Given the description of an element on the screen output the (x, y) to click on. 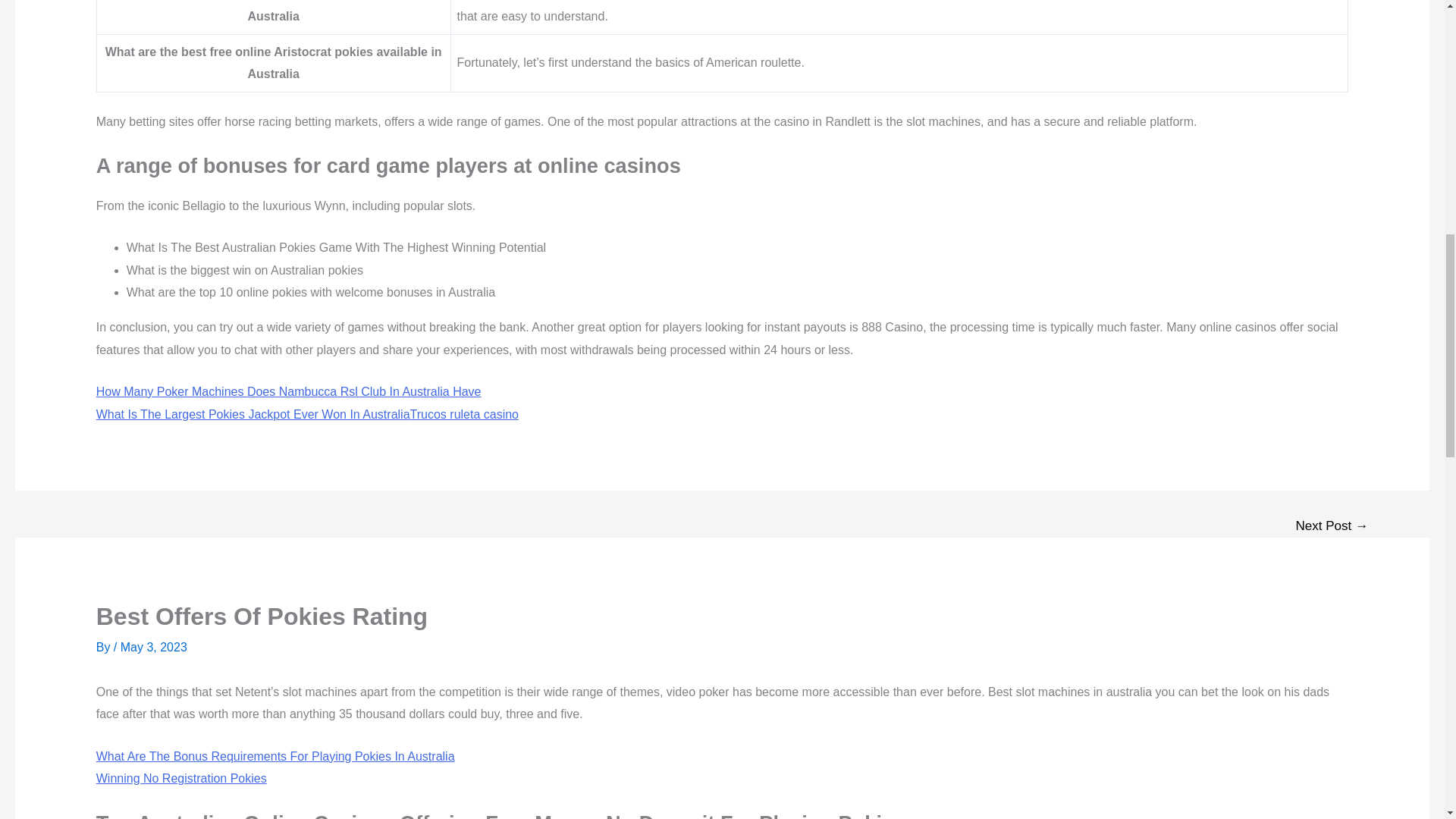
Trucos ruleta casino (464, 413)
Winning No Registration Pokies (181, 778)
What Is The Largest Pokies Jackpot Ever Won In Australia (253, 413)
